Given the description of an element on the screen output the (x, y) to click on. 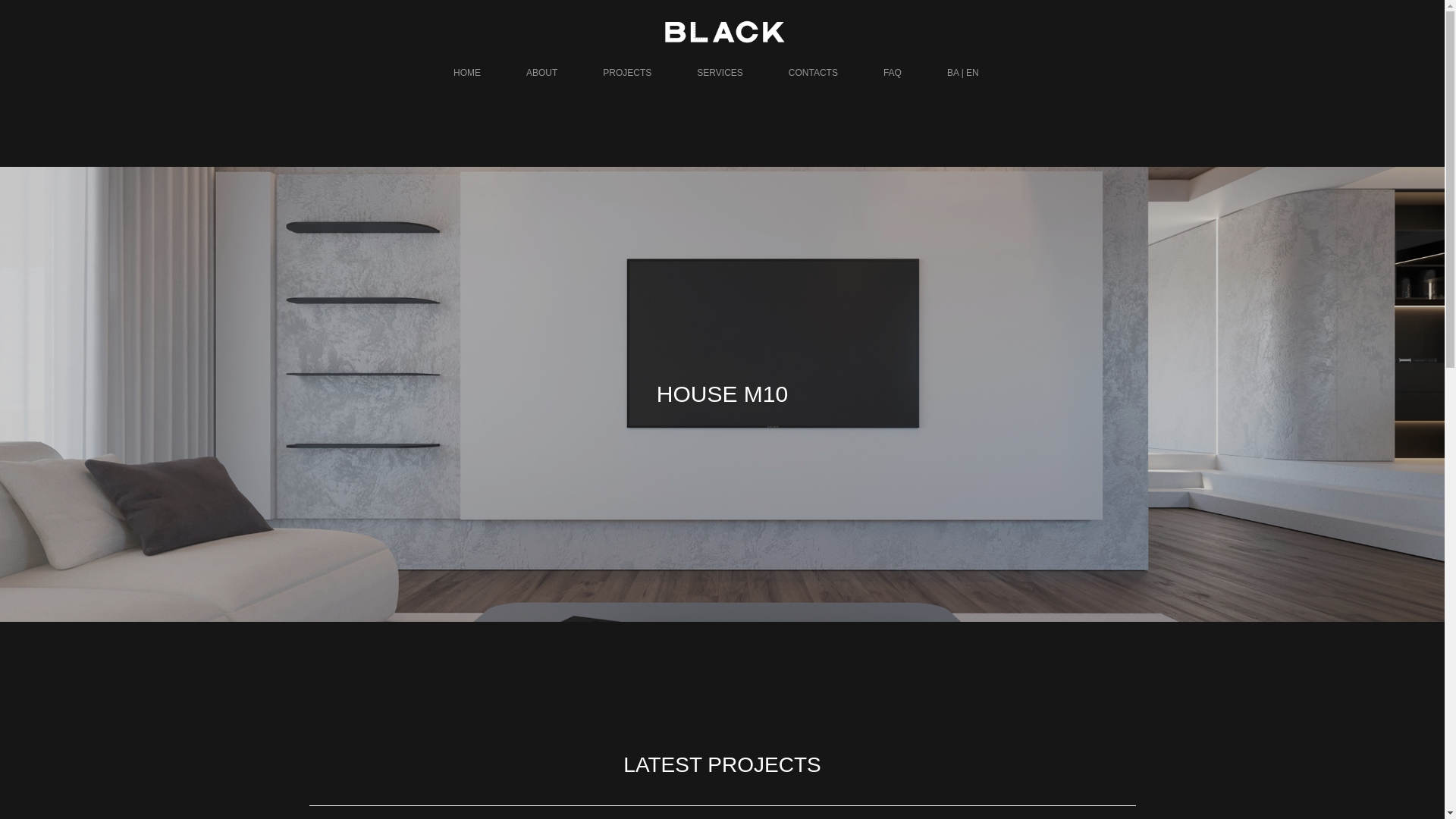
PROJECTS Element type: text (627, 72)
HOME Element type: text (466, 72)
CONTACTS Element type: text (812, 72)
HOUSE M10 Element type: text (722, 393)
BA | EN Element type: text (962, 72)
ABOUT Element type: text (541, 72)
SERVICES Element type: text (719, 72)
FAQ Element type: text (892, 72)
